Given the description of an element on the screen output the (x, y) to click on. 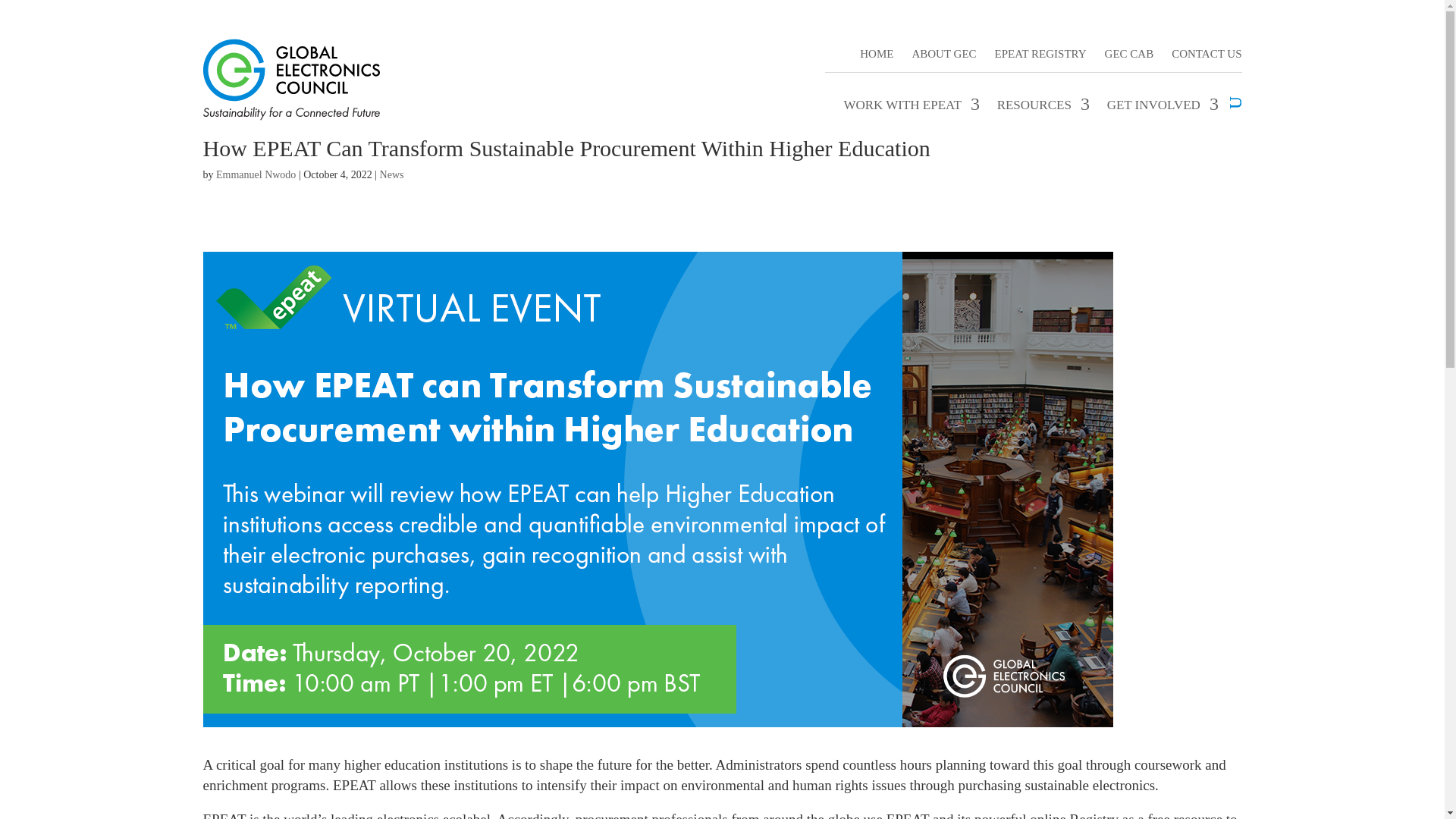
EPEAT REGISTRY (1040, 47)
Emmanuel Nwodo (255, 174)
GET INVOLVED (1160, 104)
CONTACT US (1206, 47)
Posts by Emmanuel Nwodo (255, 174)
ABOUT GEC (943, 47)
News (392, 174)
GEC CAB (1129, 47)
RESOURCES (1040, 104)
